Given the description of an element on the screen output the (x, y) to click on. 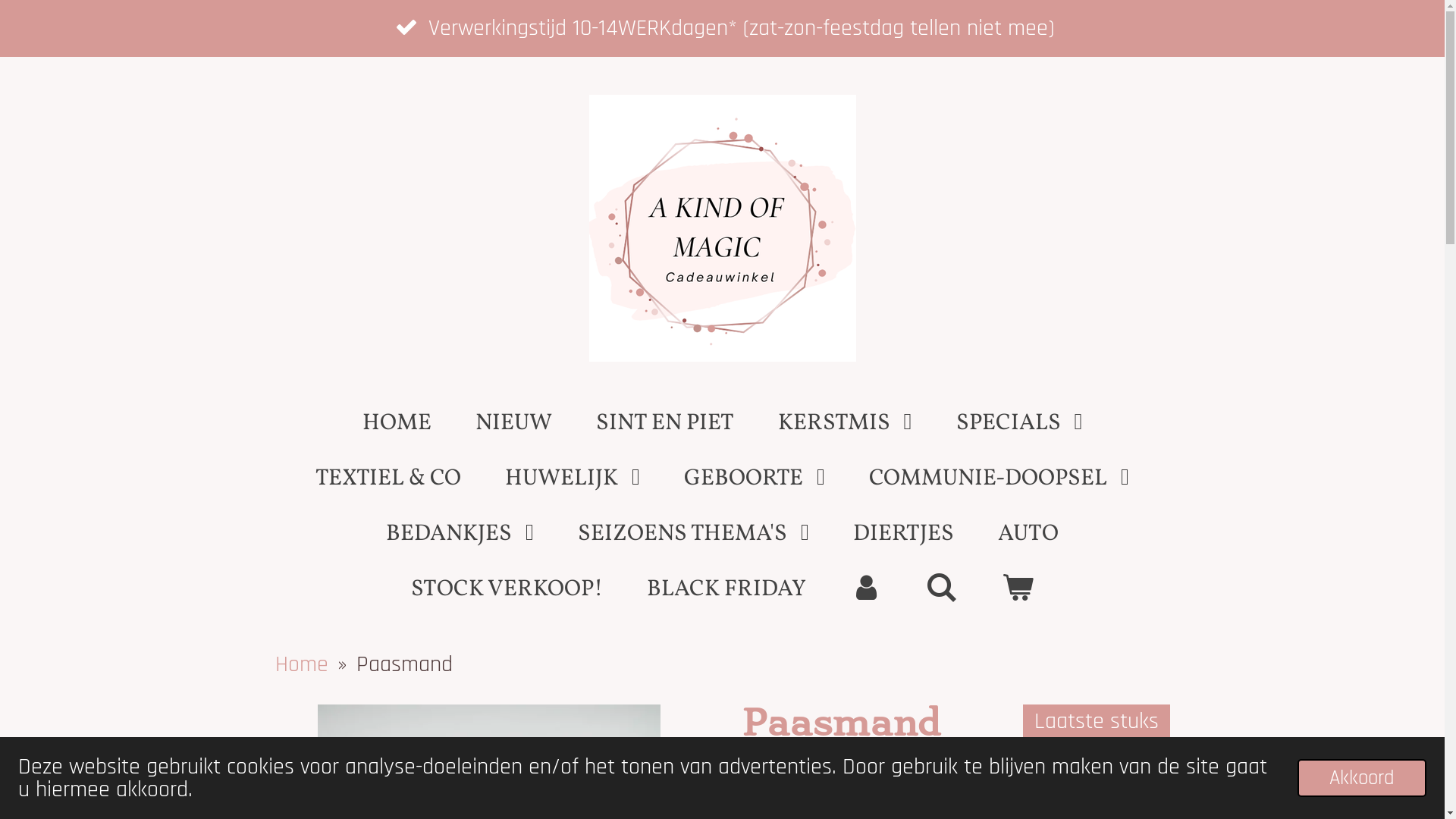
TEXTIEL & CO Element type: text (388, 478)
AUTO Element type: text (1027, 534)
BLACK FRIDAY Element type: text (726, 589)
Zoeken Element type: hover (941, 589)
SPECIALS Element type: text (1018, 423)
Bekijk winkelwagen Element type: hover (1017, 589)
GEBOORTE Element type: text (754, 478)
Account Element type: hover (865, 589)
HOME Element type: text (396, 423)
SEIZOENS THEMA'S Element type: text (693, 534)
COMMUNIE-DOOPSEL Element type: text (998, 478)
Akkoord Element type: text (1361, 778)
HUWELIJK Element type: text (572, 478)
Paasmand Element type: text (404, 663)
NIEUW Element type: text (513, 423)
Home Element type: text (300, 663)
SINT EN PIET Element type: text (664, 423)
A kind of magic Element type: hover (721, 227)
DIERTJES Element type: text (903, 534)
KERSTMIS Element type: text (844, 423)
BEDANKJES Element type: text (459, 534)
STOCK VERKOOP! Element type: text (506, 589)
